Given the description of an element on the screen output the (x, y) to click on. 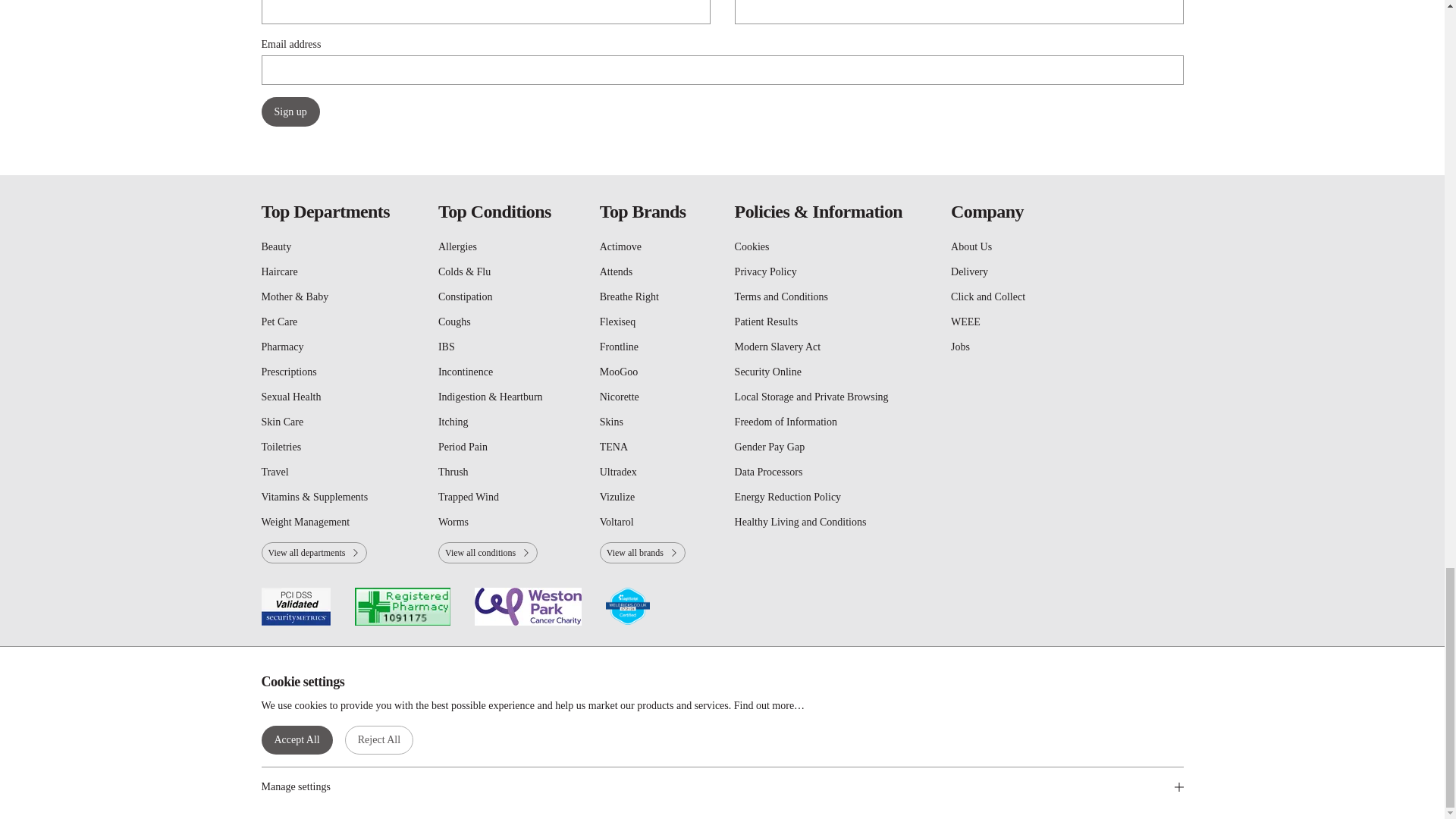
Sign up (289, 111)
Verify LegitScript Approval (627, 606)
